Given the description of an element on the screen output the (x, y) to click on. 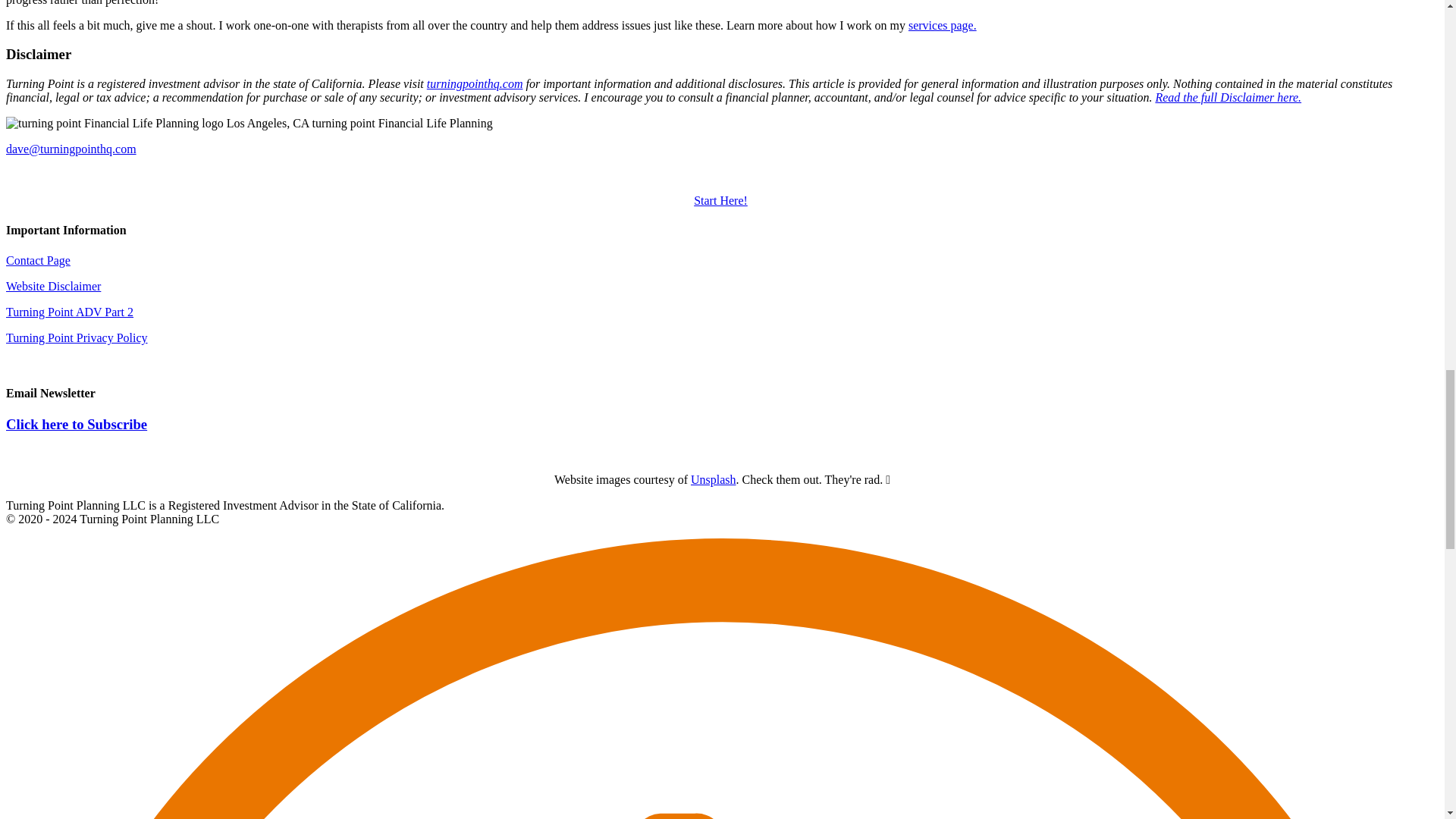
Contact Page (37, 259)
Unsplash (713, 479)
turningpointhq.com (474, 83)
Turning Point ADV Part 2 (69, 311)
Website Disclaimer (52, 286)
services page. (942, 24)
Turning Point Privacy Policy (76, 337)
Read the full Disclaimer here. (1227, 97)
Click here to Subscribe (76, 424)
Start Here! (721, 200)
